Given the description of an element on the screen output the (x, y) to click on. 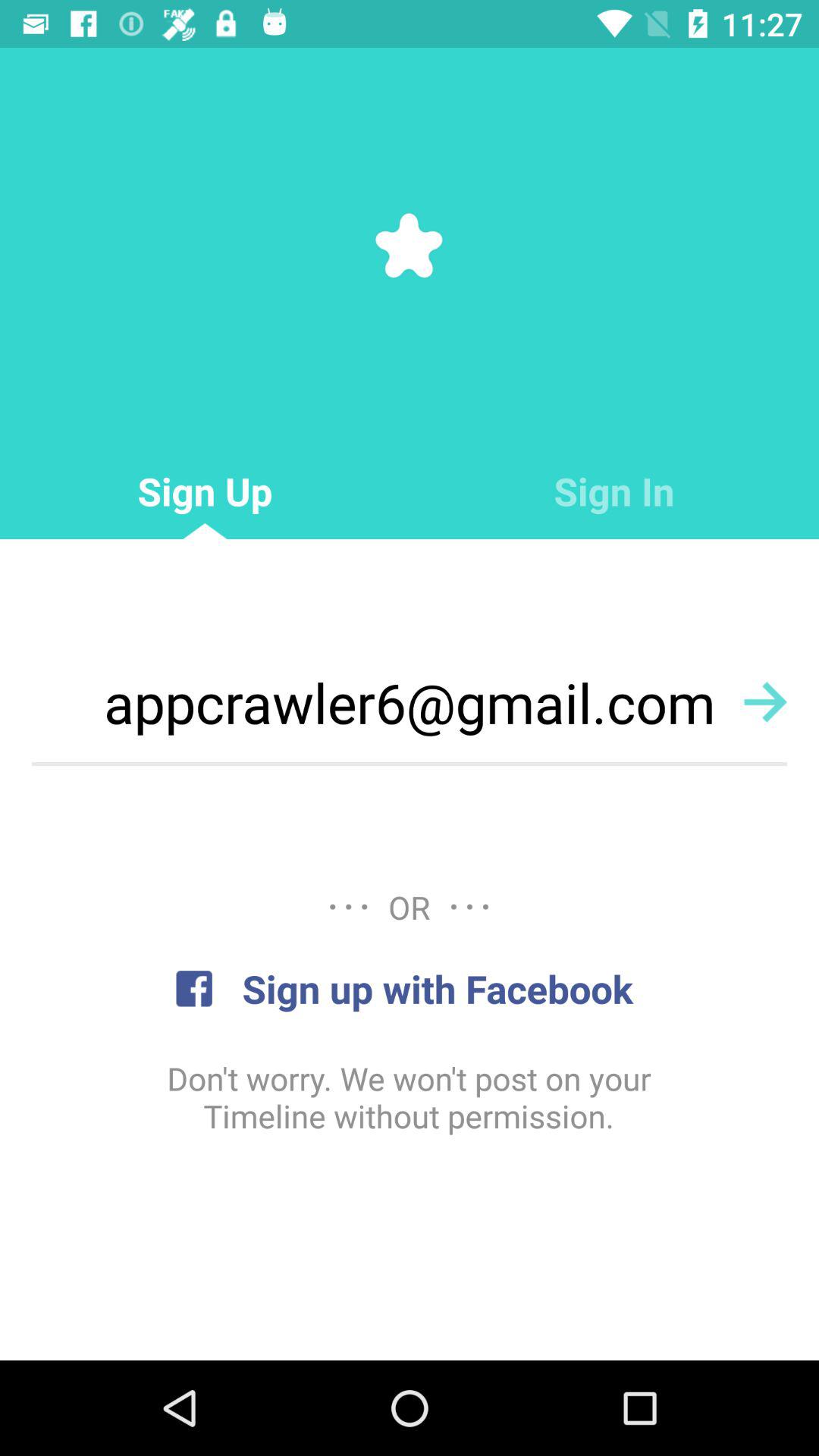
swipe until the sign in item (614, 491)
